Given the description of an element on the screen output the (x, y) to click on. 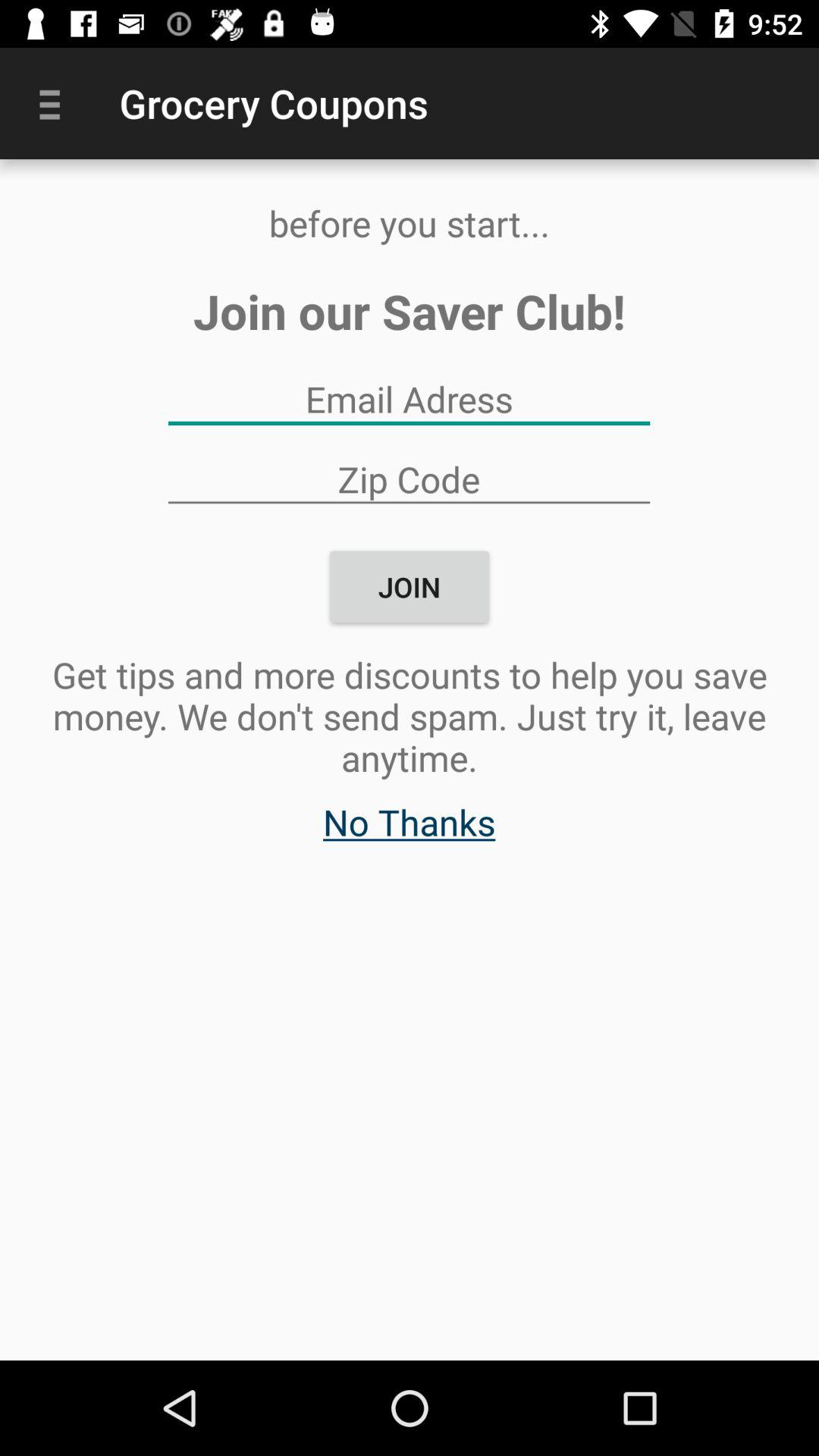
tap the app to the left of the grocery coupons app (55, 103)
